Given the description of an element on the screen output the (x, y) to click on. 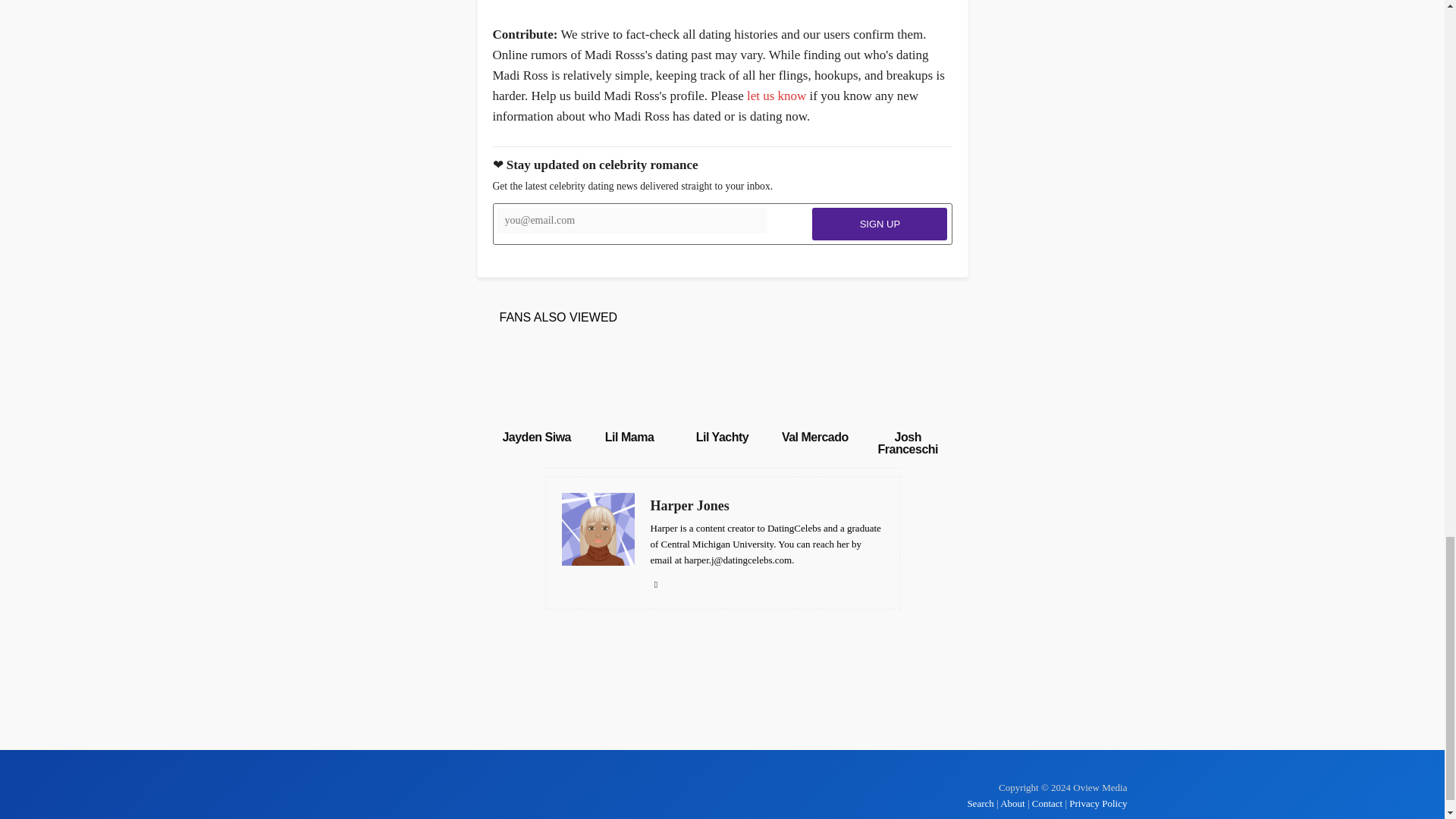
Lil Yachty (721, 436)
Lil Mama (629, 436)
Lil Mama (629, 383)
Val Mercado (814, 436)
Jayden Siwa (536, 436)
Search (980, 803)
Harper Jones (766, 505)
Contact (1047, 803)
Josh Franceschi (907, 442)
SIGN UP (879, 224)
Jayden Siwa (536, 436)
SIGN UP (879, 224)
Privacy Policy (1097, 803)
let us know (776, 95)
Lil Mama (629, 436)
